Given the description of an element on the screen output the (x, y) to click on. 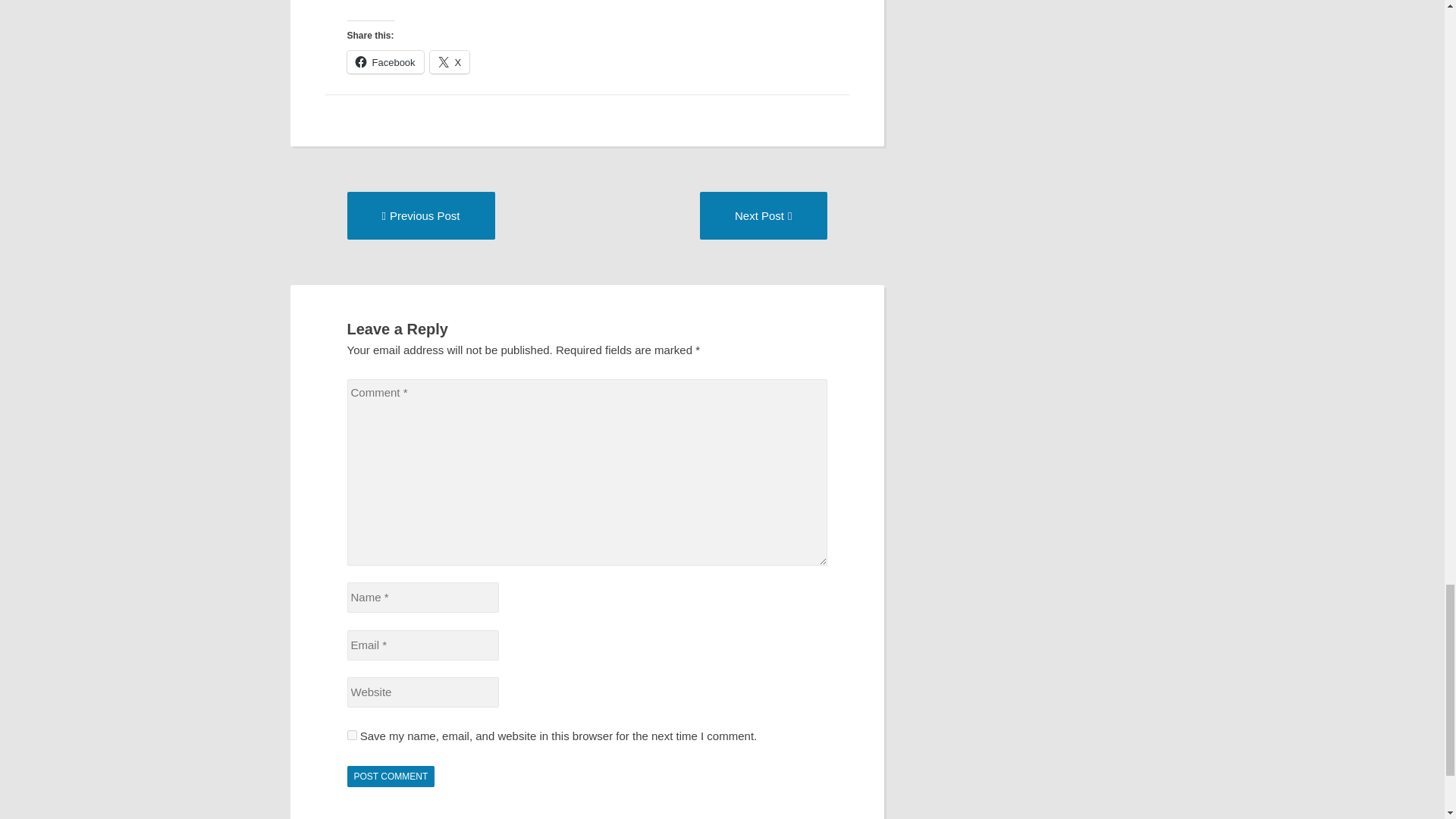
yes (351, 735)
Click to share on Facebook (385, 61)
Click to share on X (763, 215)
Facebook (421, 215)
Post Comment (449, 61)
X (385, 61)
